Given the description of an element on the screen output the (x, y) to click on. 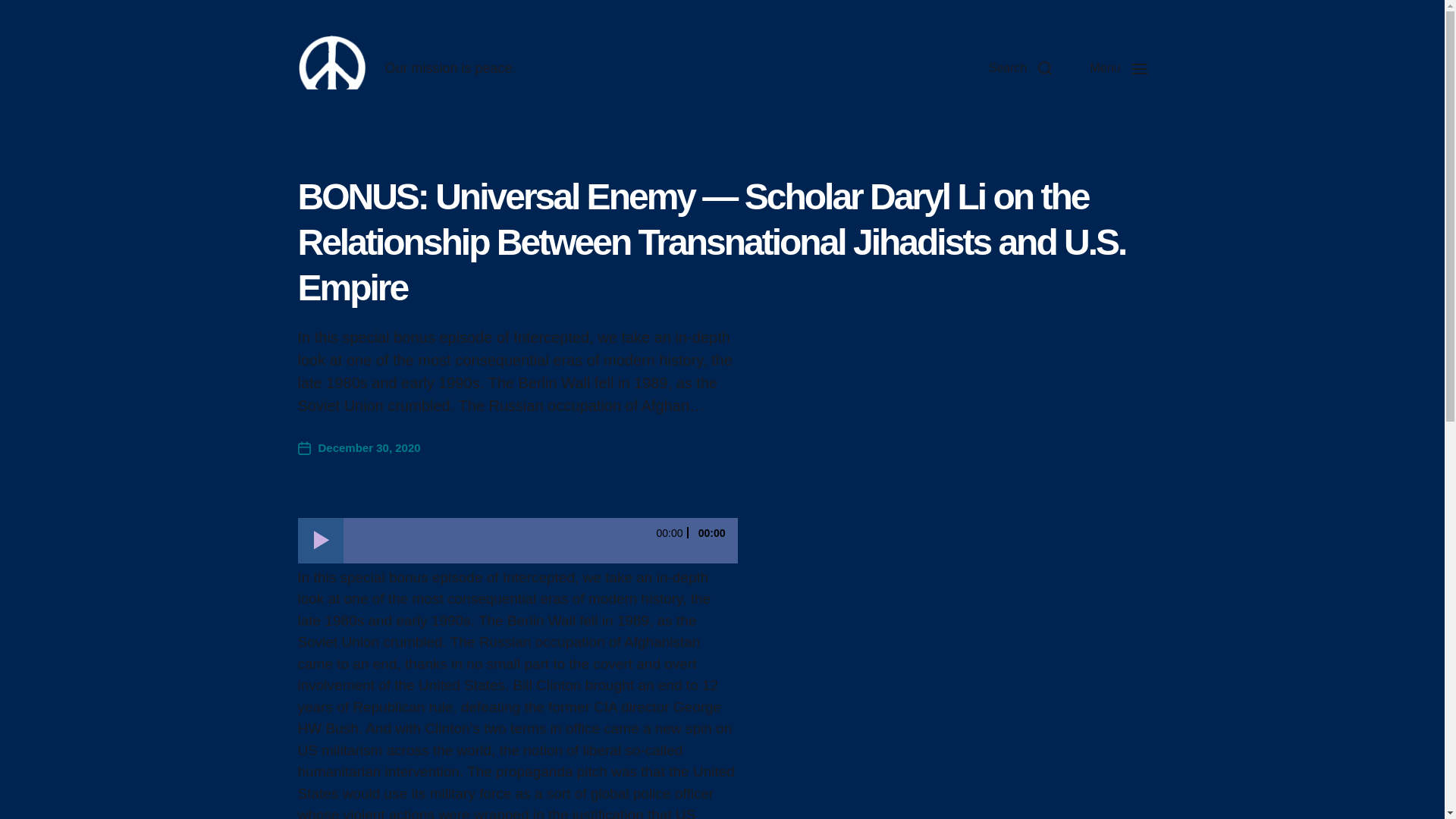
Search (1020, 68)
Play (319, 539)
Menu (1118, 68)
December 30, 2020 (358, 448)
